Given the description of an element on the screen output the (x, y) to click on. 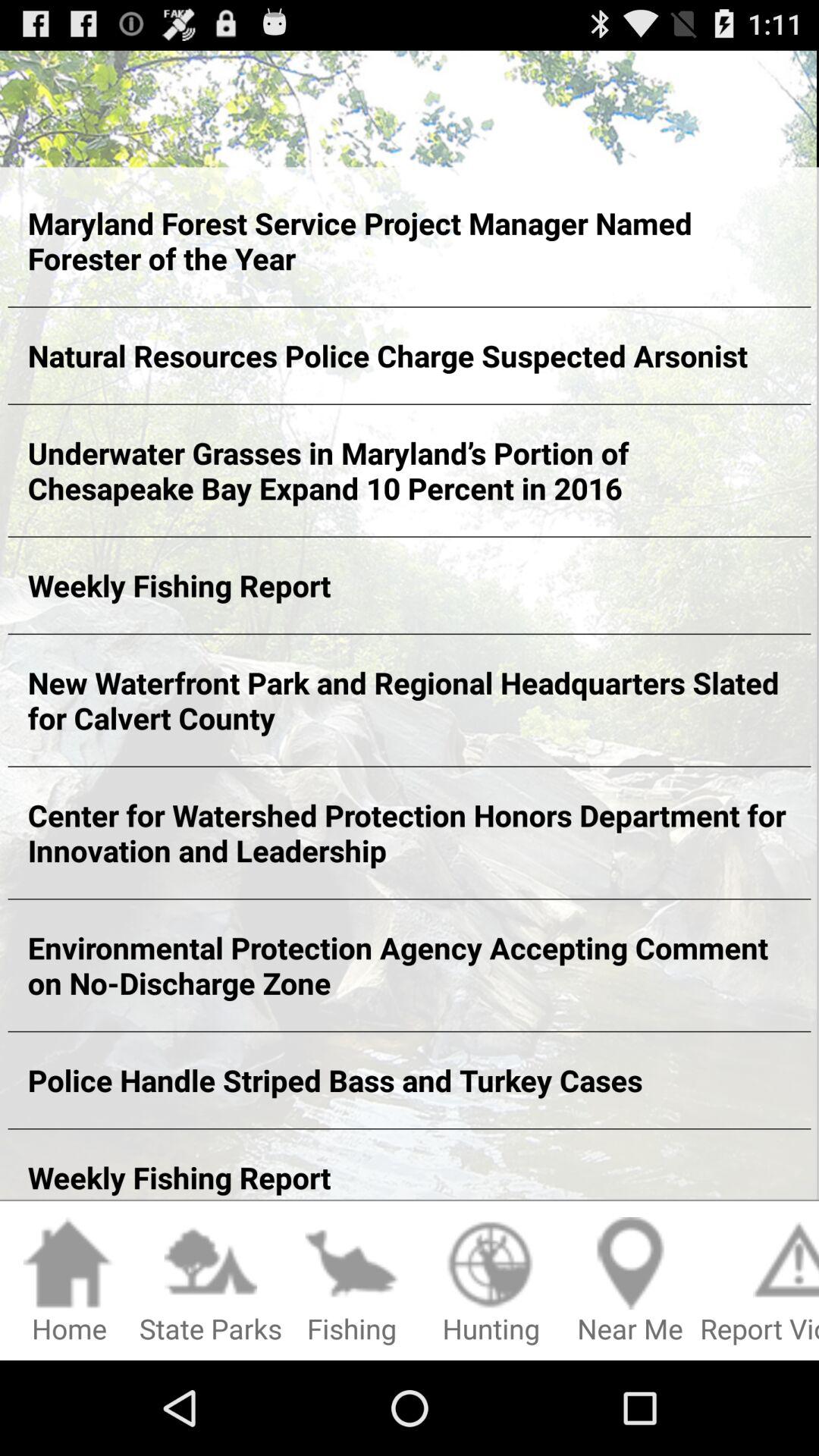
press the icon to the left of report violation item (630, 1282)
